Given the description of an element on the screen output the (x, y) to click on. 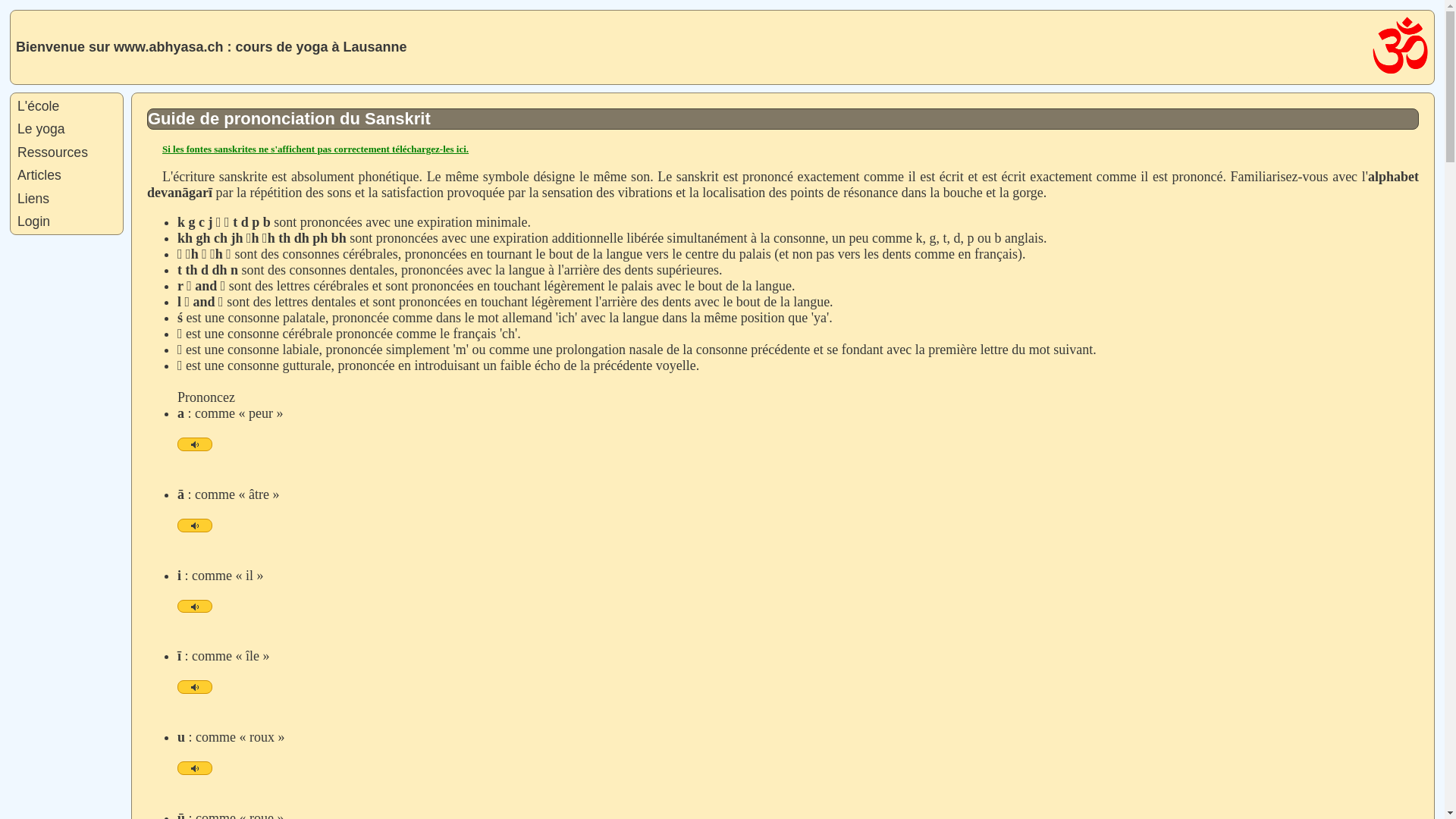
Le yoga Element type: text (66, 128)
Login Element type: text (66, 221)
Ressources Element type: text (66, 152)
Articles Element type: text (66, 174)
Liens Element type: text (66, 198)
Om Element type: hover (1399, 45)
